Given the description of an element on the screen output the (x, y) to click on. 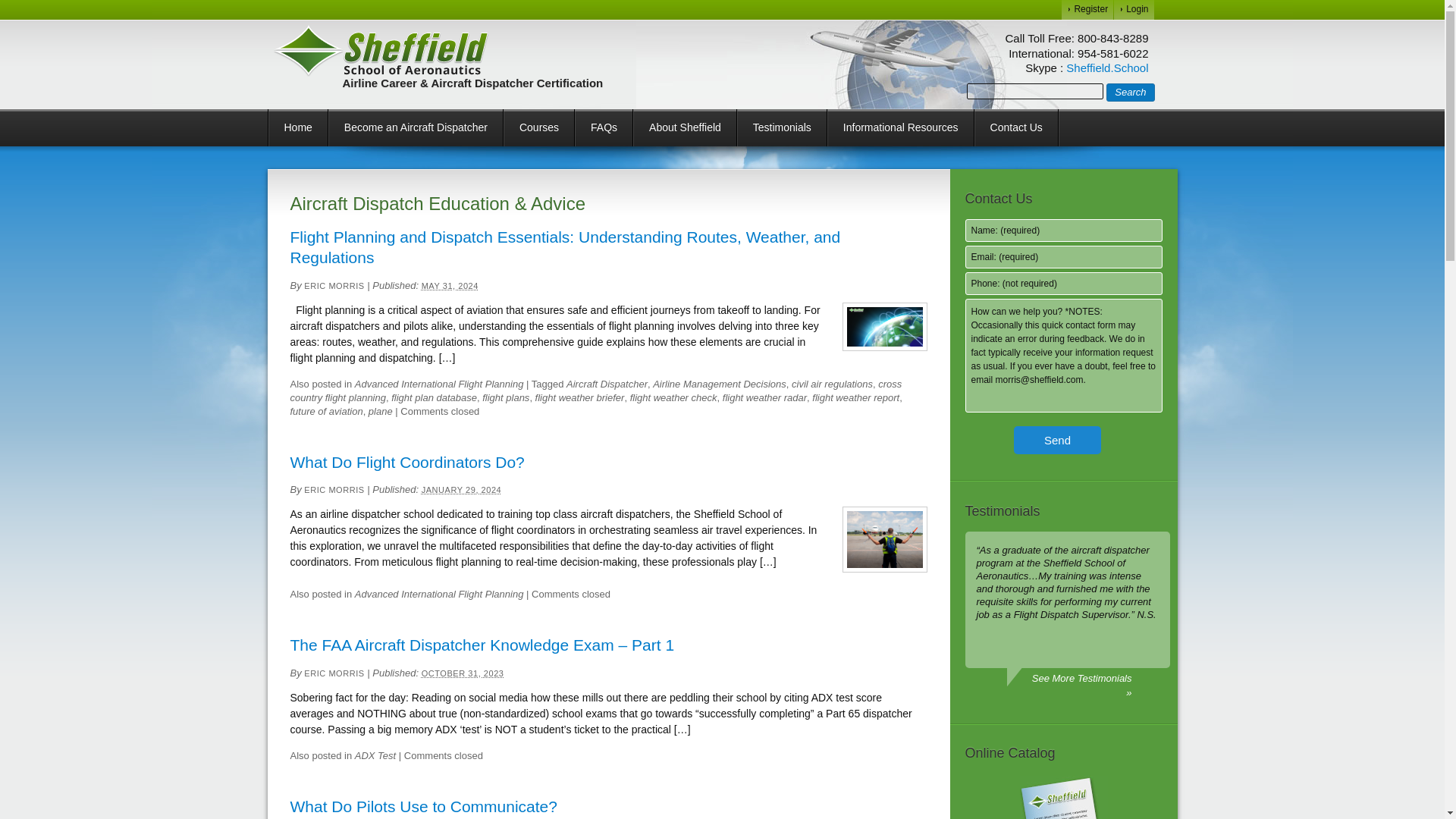
Send (1056, 439)
Permalink to What Do Flight Coordinators Do? (406, 461)
About Sheffield (684, 127)
Search (1130, 92)
Permalink to What Do Pilots Use to Communicate? (422, 805)
2024-05-31T12:54:31-0400 (450, 285)
Courses (538, 127)
Register (1087, 9)
Home (296, 127)
2023-10-31T12:02:54-0400 (462, 673)
Sheffield School of Aeronautics (380, 50)
Sheffield.School (1106, 67)
View all posts by Eric Morris (334, 285)
Sheffield School of Aeronautics (380, 50)
